Given the description of an element on the screen output the (x, y) to click on. 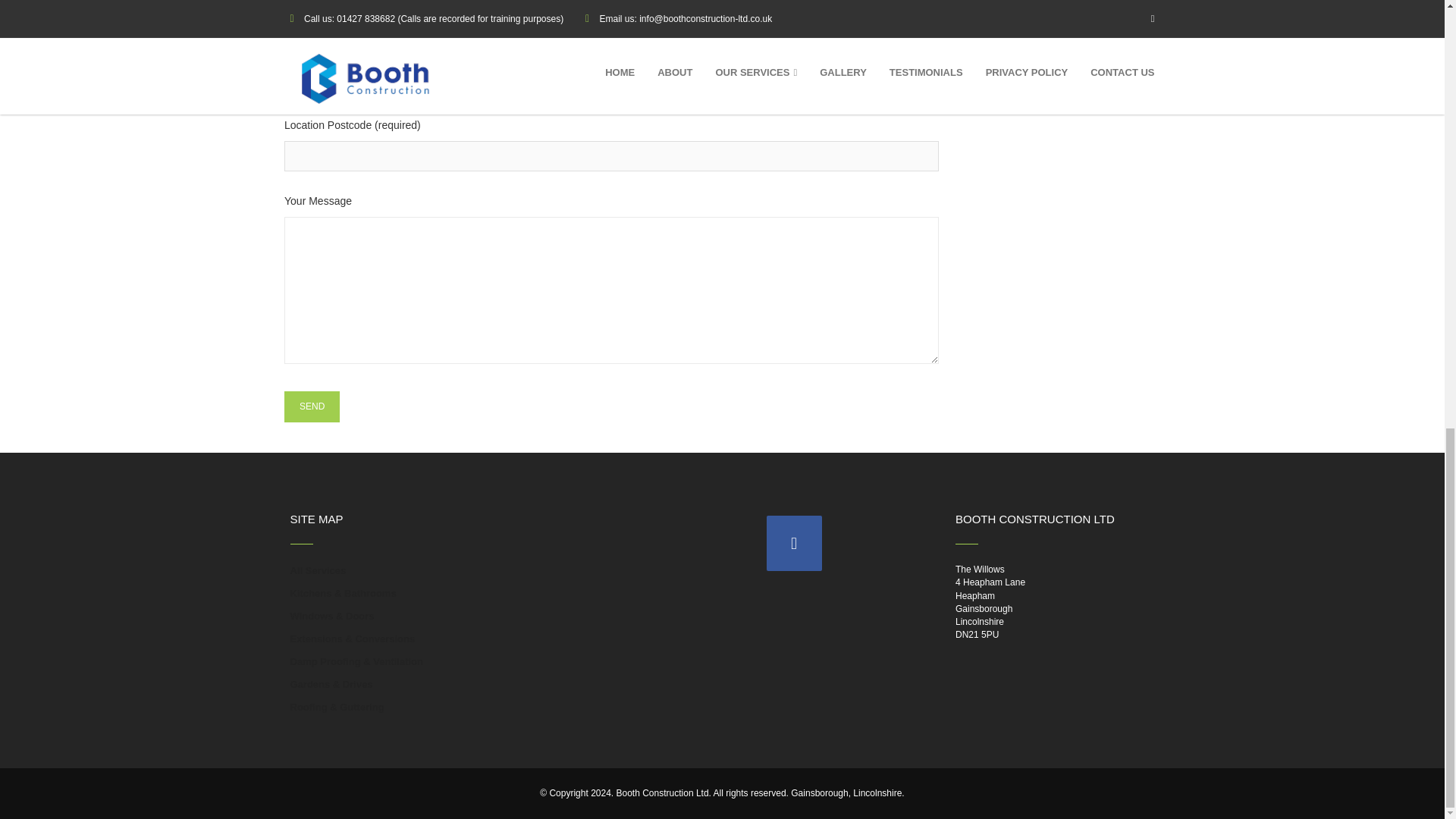
Send (311, 406)
All Services (317, 571)
Send (311, 406)
